Given the description of an element on the screen output the (x, y) to click on. 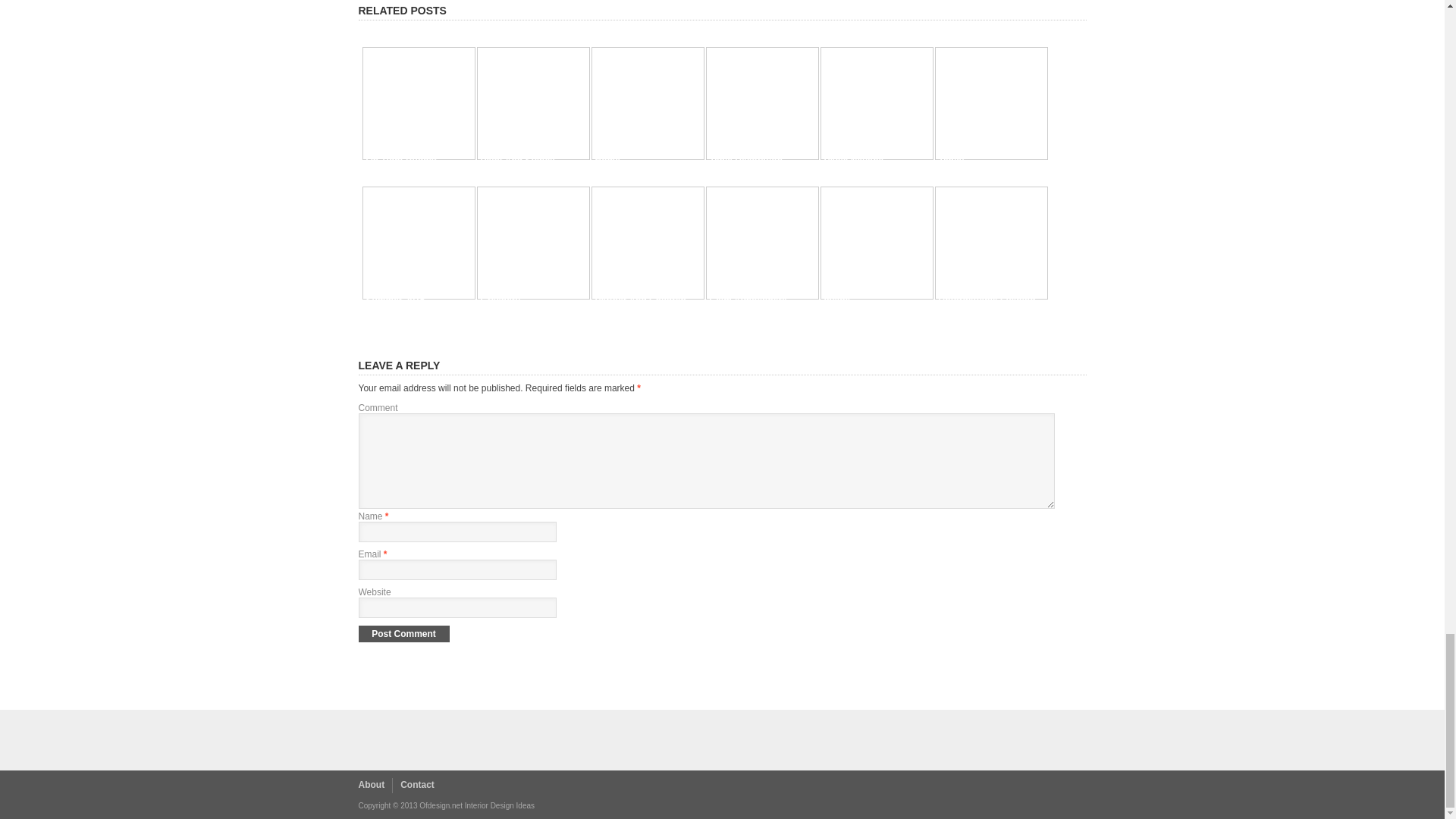
Cozy Private Residence On Tight Budget (416, 153)
100 Decorative Home Accessories Individually For Your Home (639, 137)
Post Comment (403, 633)
